Given the description of an element on the screen output the (x, y) to click on. 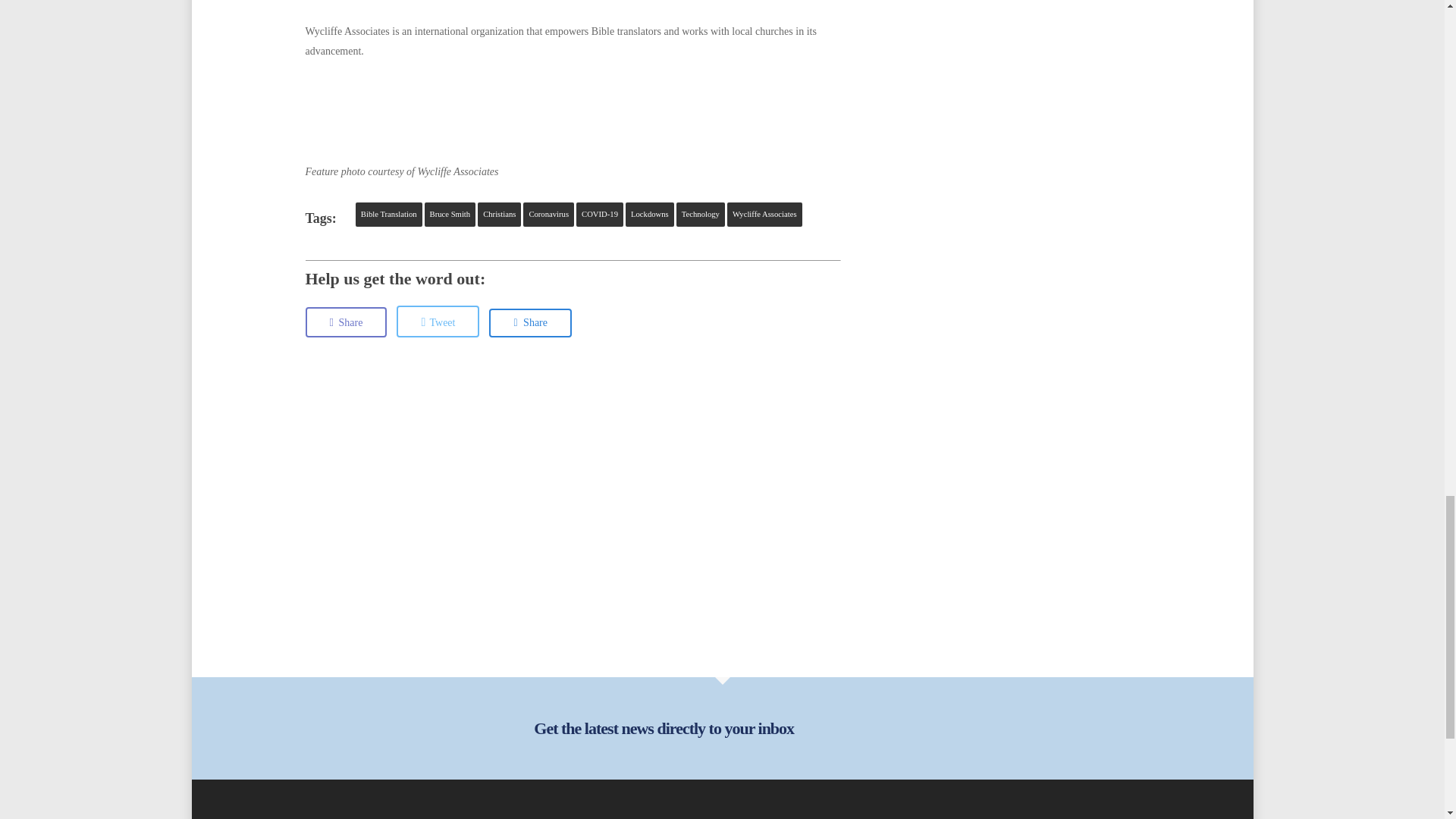
Technology (701, 214)
Bible Translation (388, 214)
Lockdowns (650, 214)
Share this (345, 322)
Coronavirus (547, 214)
Bruce Smith (450, 214)
Wycliffe Associates (764, 214)
Tweet this (437, 321)
Christians (499, 214)
COVID-19 (599, 214)
